Given the description of an element on the screen output the (x, y) to click on. 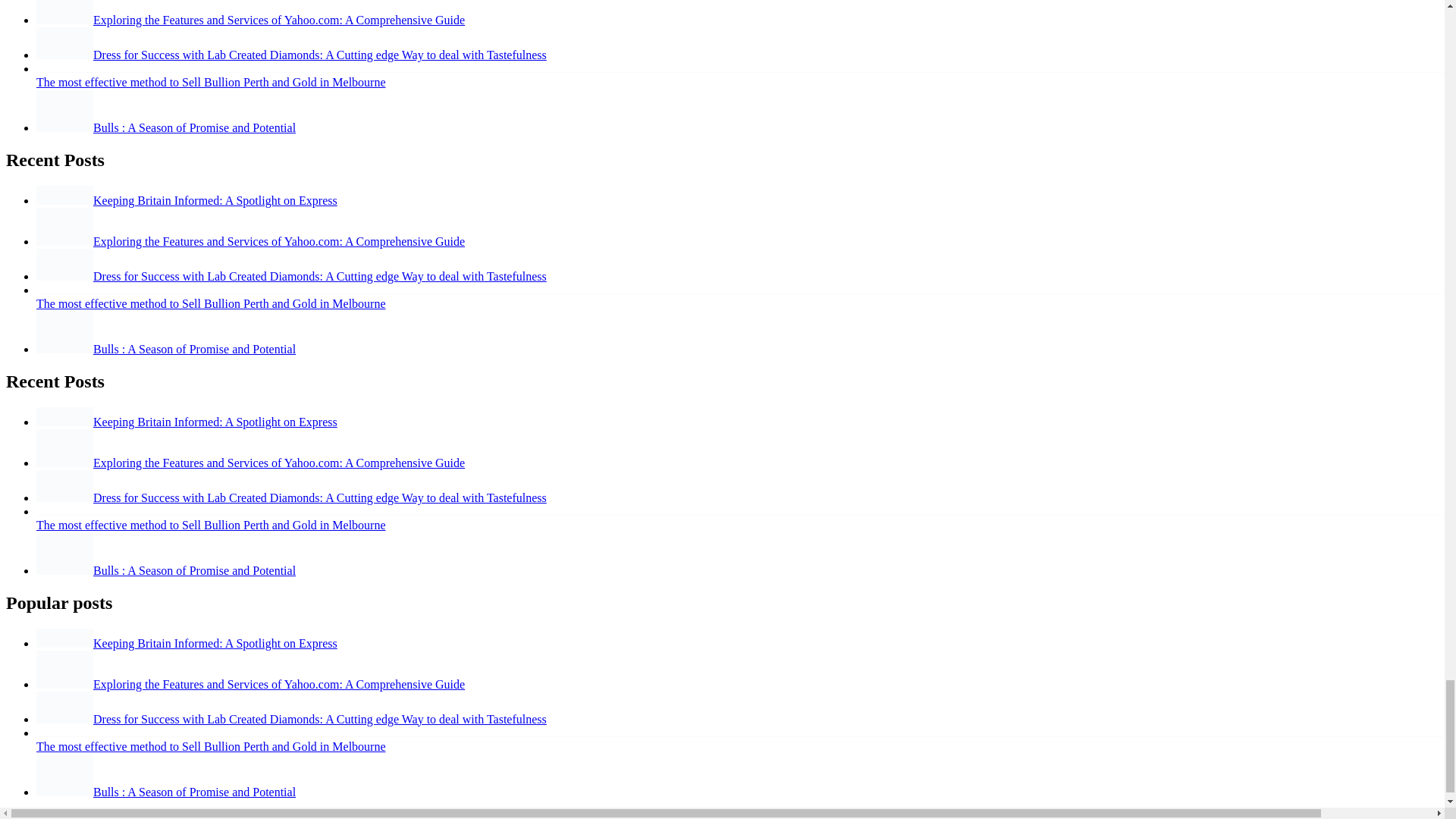
lab created diamonds (64, 42)
lab created diamonds (64, 486)
lab created diamonds (64, 707)
lab created diamonds (64, 264)
